Given the description of an element on the screen output the (x, y) to click on. 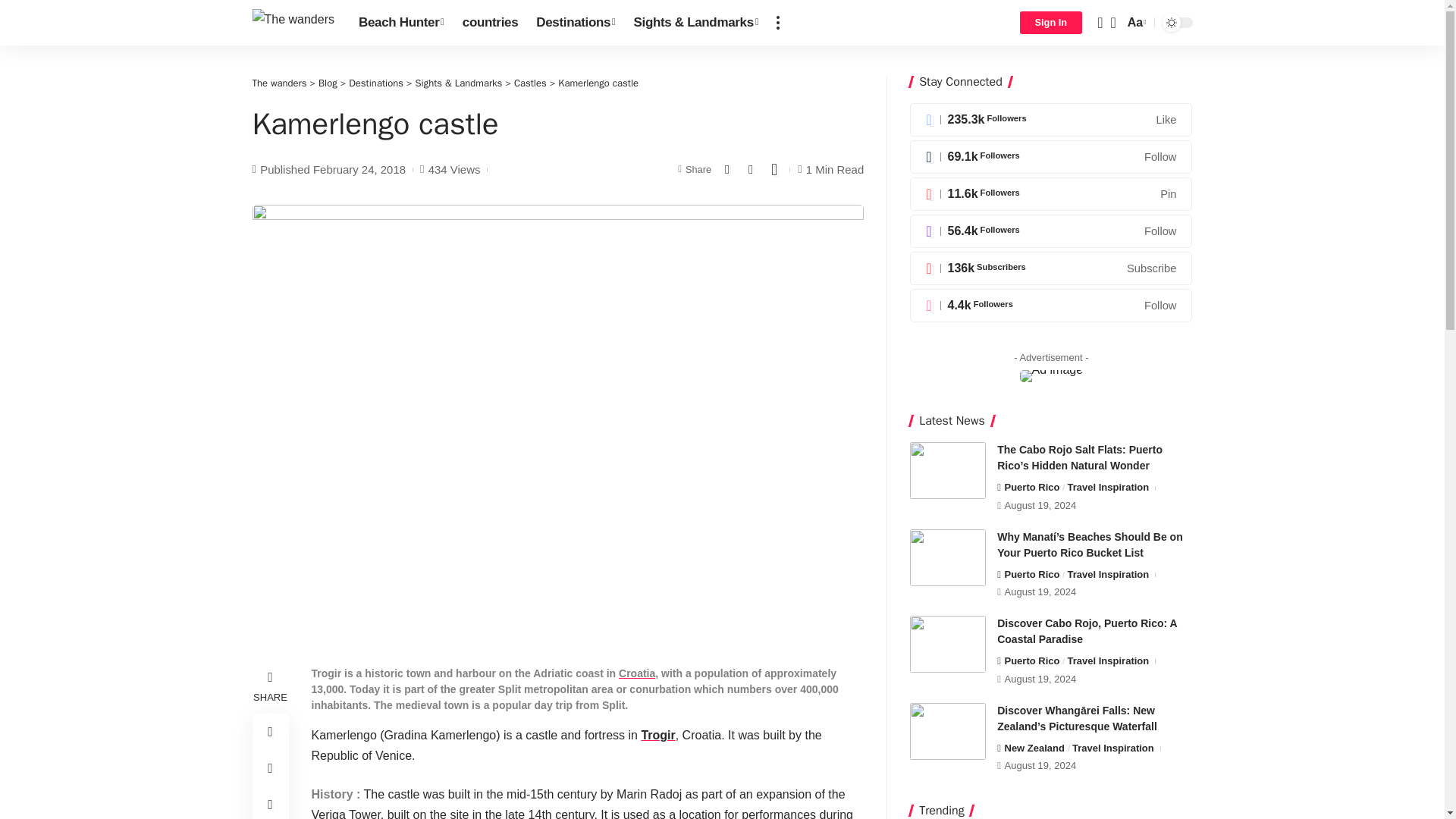
countries (489, 22)
Go to The wanders. (278, 82)
Destinations (575, 22)
Discover Cabo Rojo, Puerto Rico: A Coastal Paradise (947, 643)
The wanders (292, 22)
Go to the Castles Category archives. (530, 82)
Go to Blog. (327, 82)
Go to the Destinations Category archives. (376, 82)
Beach Hunter (400, 22)
